Given the description of an element on the screen output the (x, y) to click on. 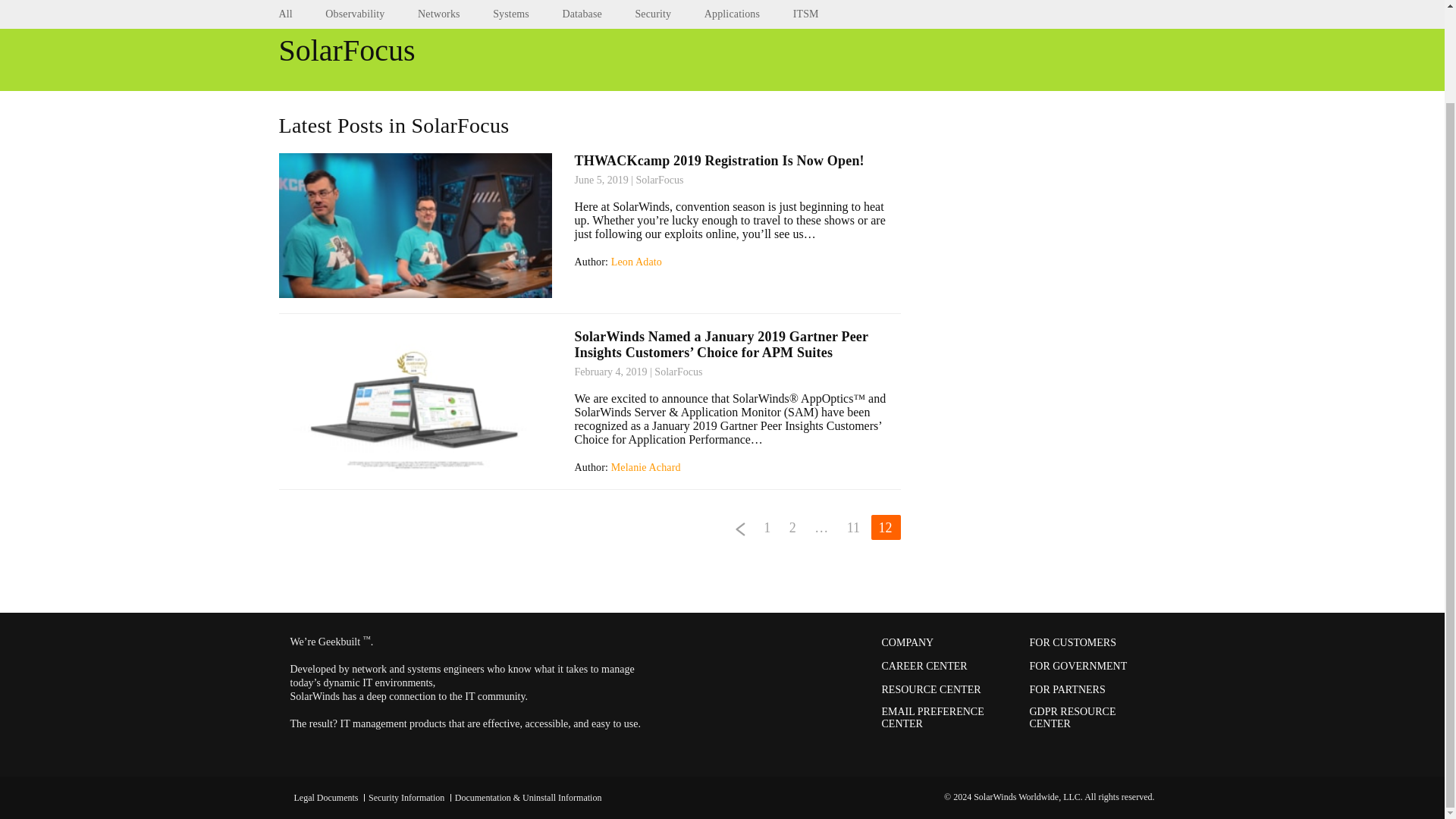
Networks (438, 0)
Database (582, 0)
Observability (354, 0)
Applications (732, 0)
